Given the description of an element on the screen output the (x, y) to click on. 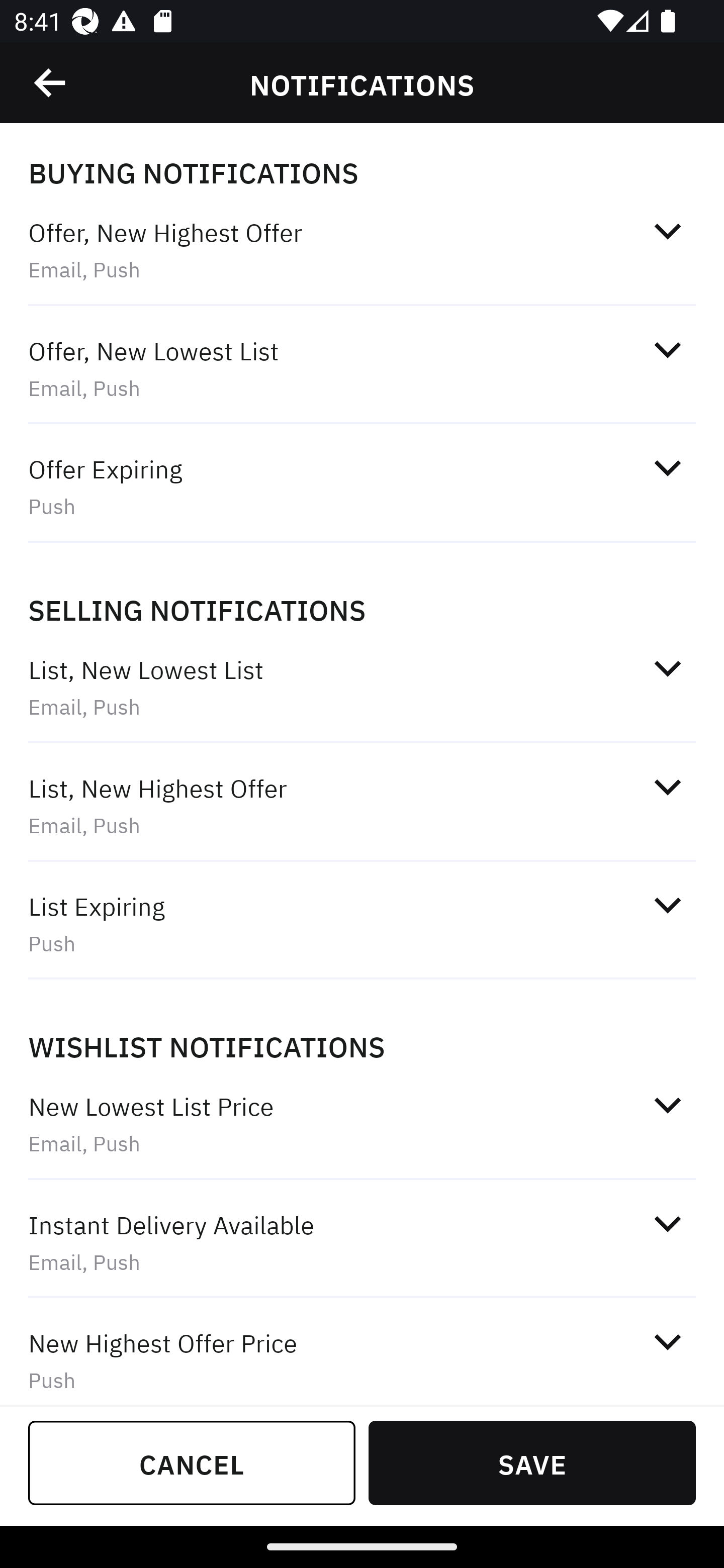
 (50, 83)
Offer, New Highest Offer  Email, Push (361, 249)
 (667, 231)
Offer, New Lowest List  Email, Push (361, 368)
 (667, 350)
Offer Expiring  Push (361, 486)
 (667, 467)
List, New Lowest List  Email, Push (361, 687)
 (667, 668)
List, New Highest Offer  Email, Push (361, 805)
 (667, 787)
List Expiring  Push (361, 924)
 (667, 905)
New Lowest List Price  Email, Push (361, 1123)
 (667, 1104)
Instant Delivery Available  Email, Push (361, 1242)
 (667, 1223)
New Highest Offer Price  Push (361, 1352)
 (667, 1341)
CANCEL (191, 1462)
SAVE (531, 1462)
